Given the description of an element on the screen output the (x, y) to click on. 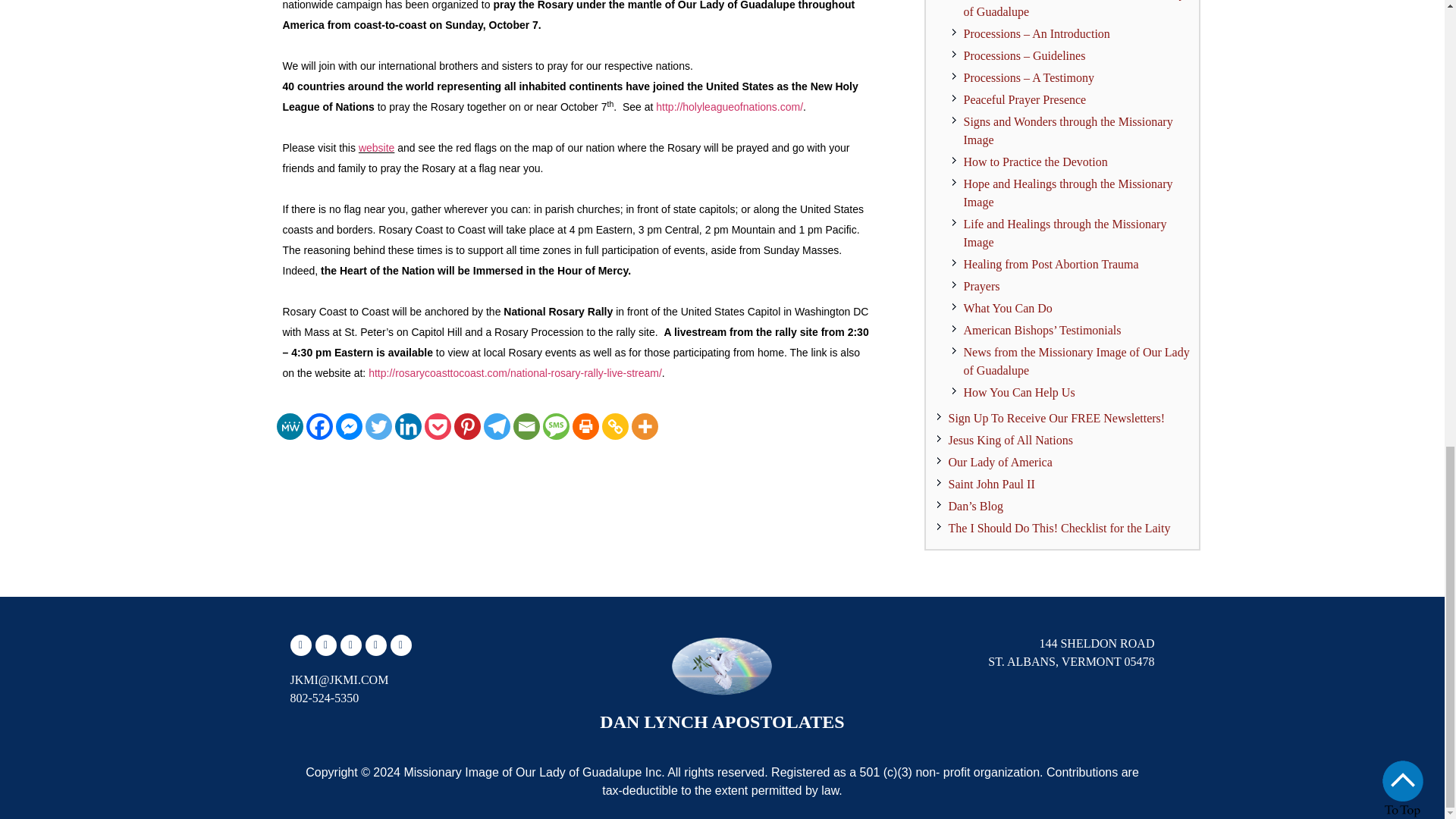
MeWe (289, 426)
